Given the description of an element on the screen output the (x, y) to click on. 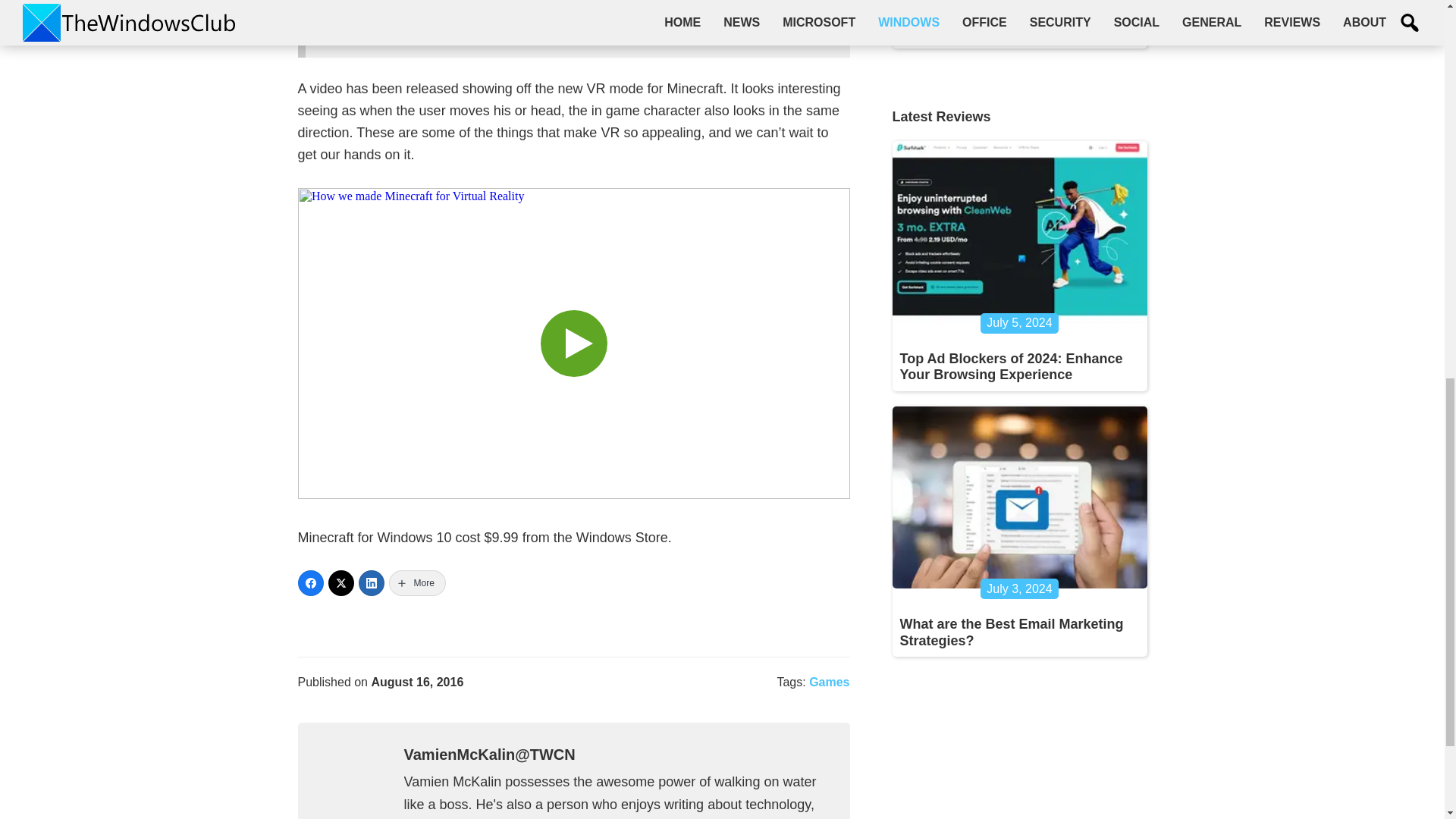
What are the Best Email Marketing Strategies? (1010, 632)
More (416, 583)
Games (828, 681)
Top Ad Blockers of 2024: Enhance Your Browsing Experience (1010, 367)
Word not responding when saving as PDF (1010, 24)
